Given the description of an element on the screen output the (x, y) to click on. 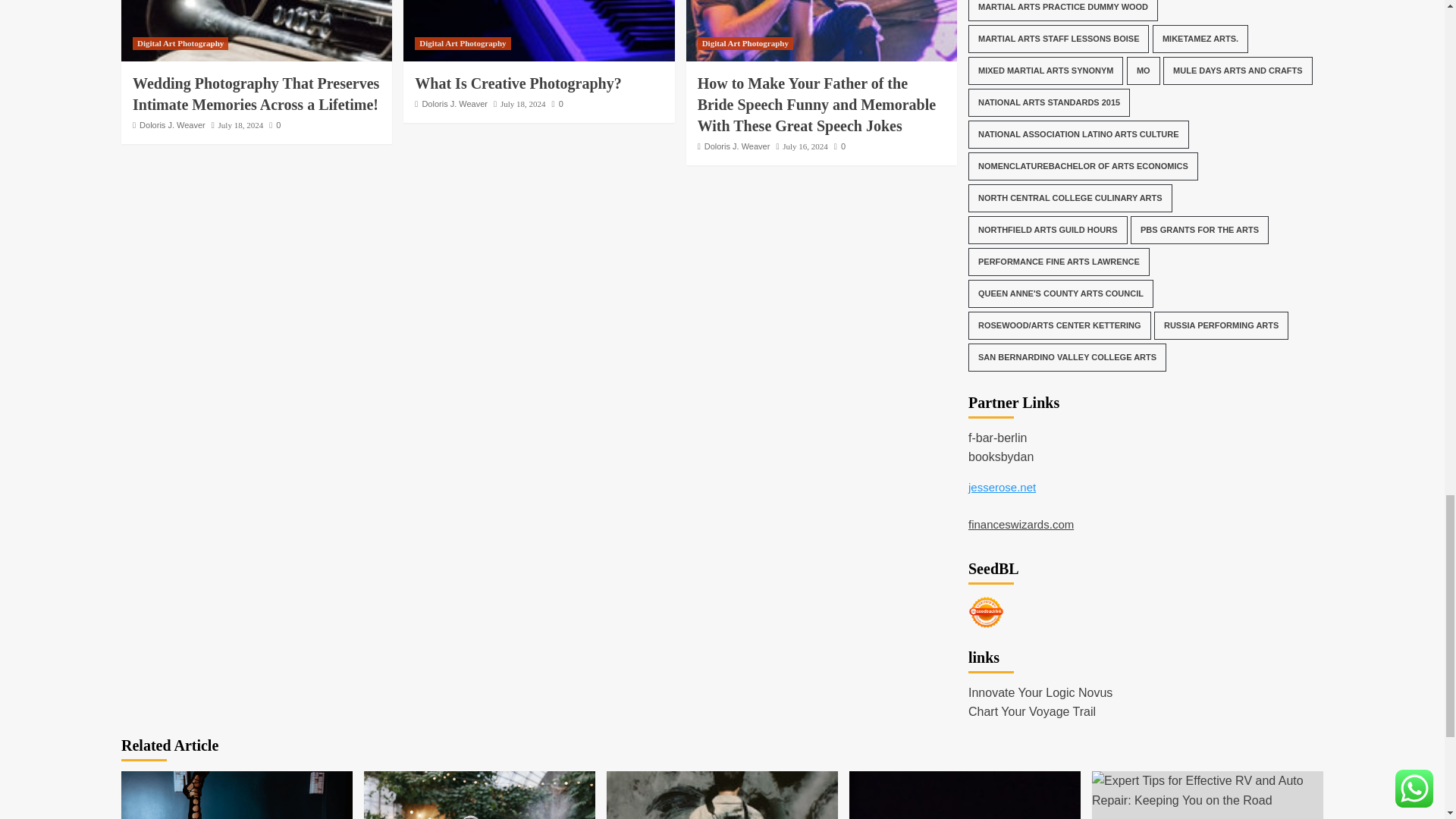
What Is Creative Photography? (538, 30)
Seedbacklink (986, 611)
